Given the description of an element on the screen output the (x, y) to click on. 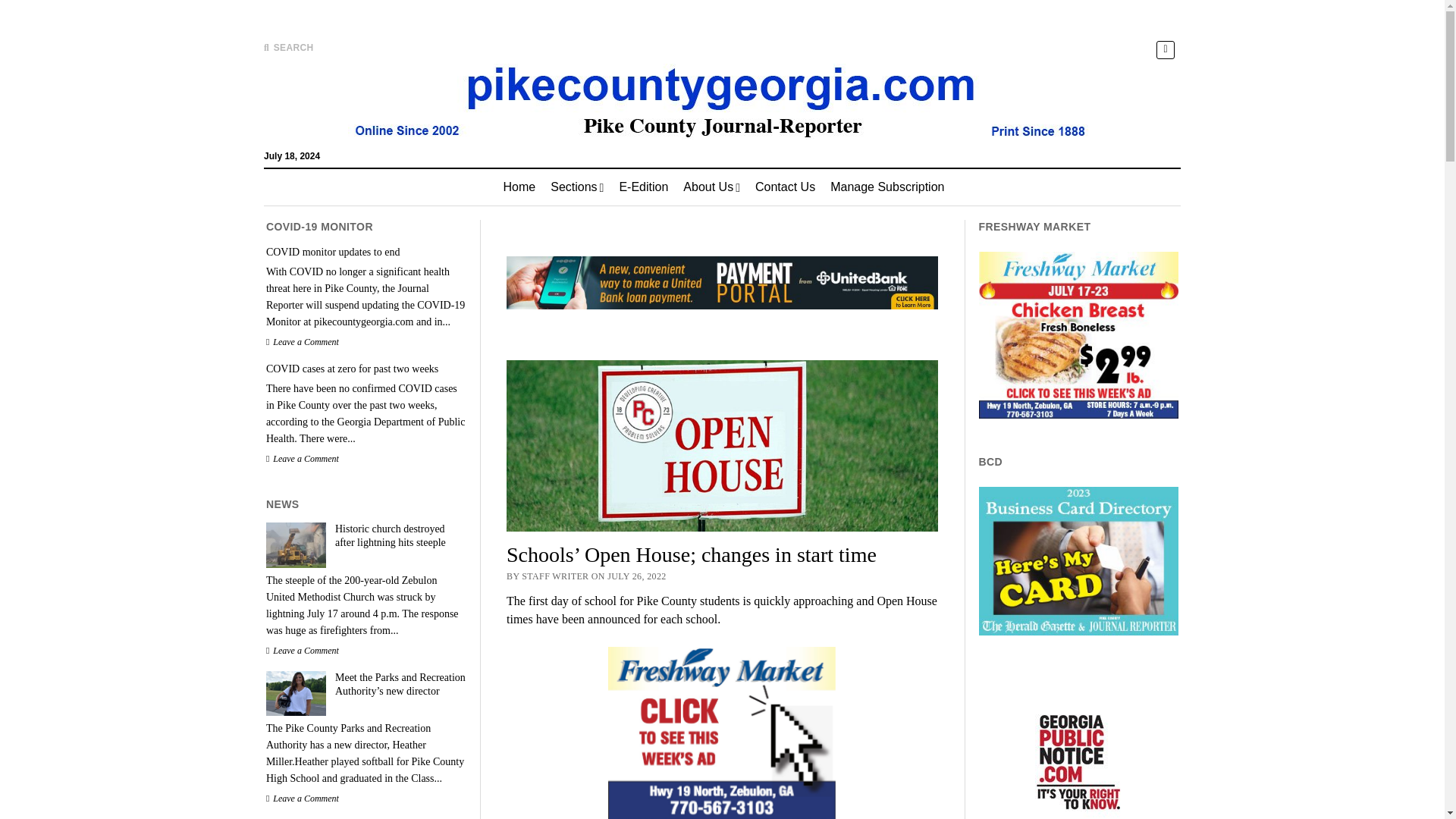
Leave a Comment (302, 458)
Leave a Comment (302, 650)
COVID cases at zero for past two weeks (365, 368)
Leave a Comment (302, 341)
E-Edition (643, 186)
Sections (576, 186)
Search (945, 129)
Contact Us (784, 186)
Leave a Comment (302, 798)
Home (519, 186)
SEARCH (288, 47)
facebook (1165, 49)
